Given the description of an element on the screen output the (x, y) to click on. 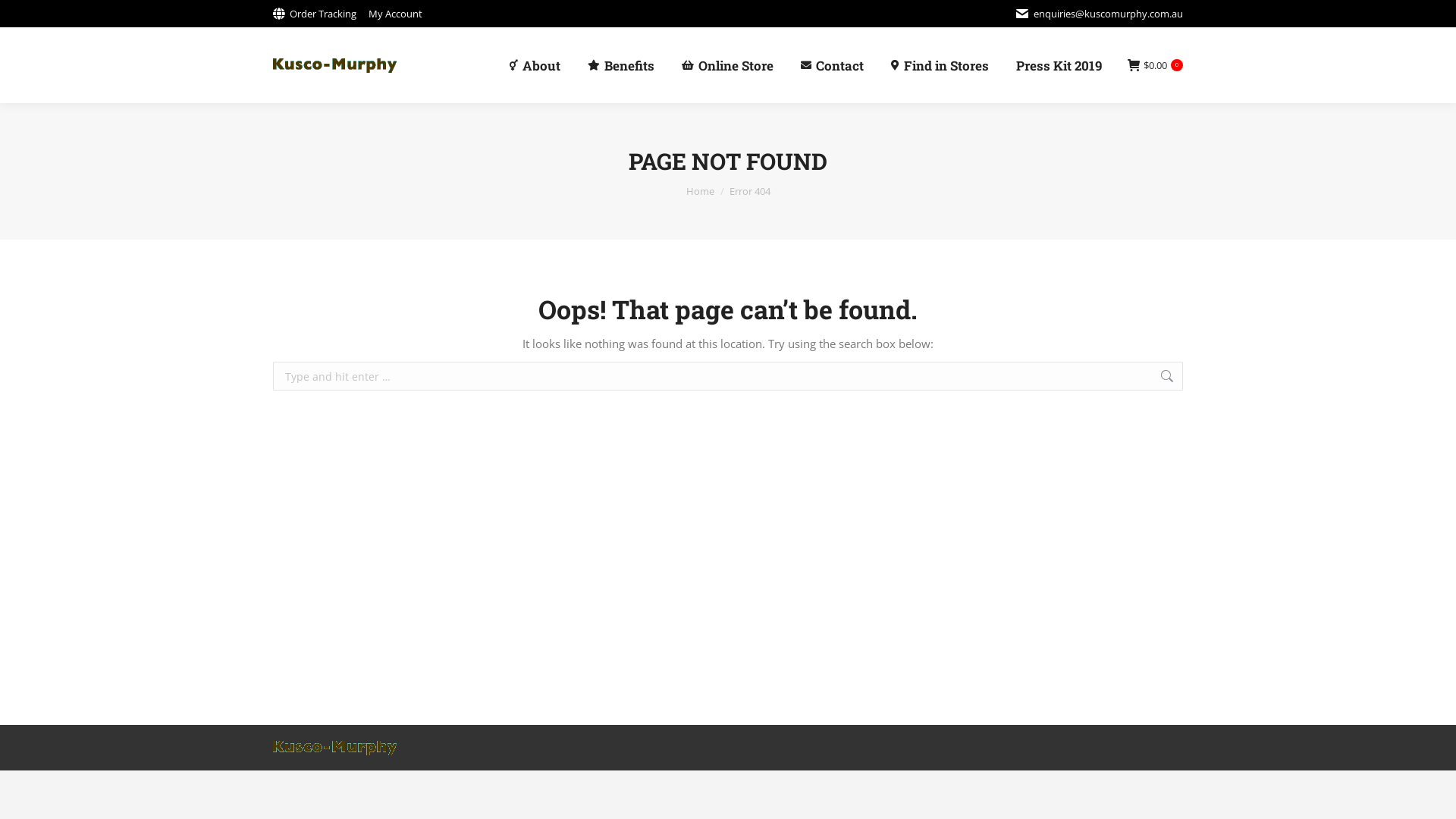
Press Kit 2019 Element type: text (1058, 64)
About Element type: text (534, 64)
Online Store Element type: text (727, 64)
Home Element type: text (699, 190)
$0.00
0 Element type: text (1155, 65)
Find in Stores Element type: text (939, 64)
Go! Element type: text (1205, 378)
Benefits Element type: text (620, 64)
Order Tracking Element type: text (314, 13)
Contact Element type: text (831, 64)
My Account Element type: text (395, 13)
